Given the description of an element on the screen output the (x, y) to click on. 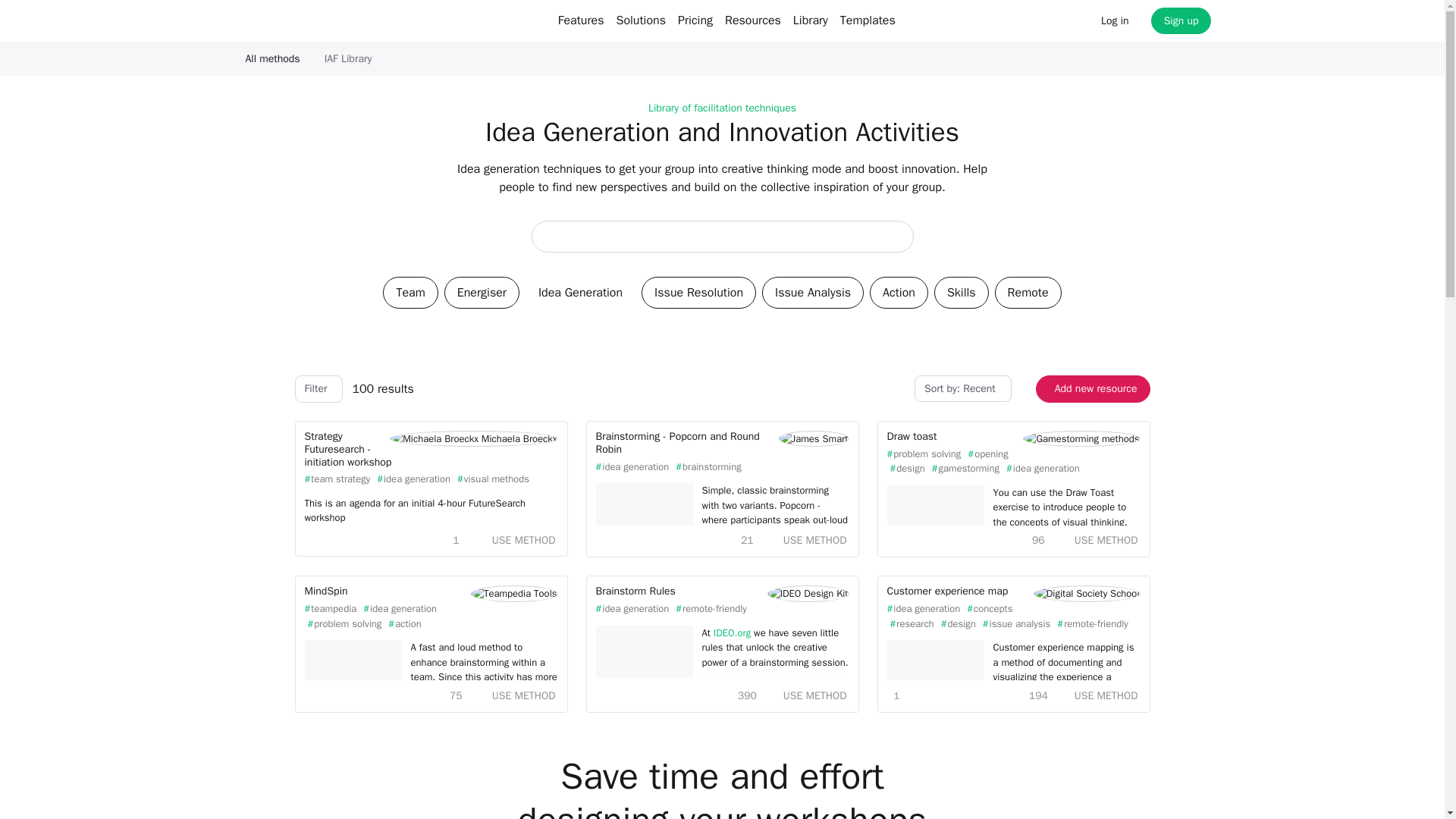
Pricing (695, 20)
Resources (753, 20)
Issue Resolution (698, 292)
Features (580, 20)
Sign up (1181, 20)
Library (810, 20)
All methods (272, 58)
Team (410, 292)
Resources (753, 20)
Idea Generation (579, 292)
IAF Library (348, 58)
Pricing (695, 20)
Log in (1114, 20)
Solutions (640, 20)
Issue Analysis (812, 292)
